Given the description of an element on the screen output the (x, y) to click on. 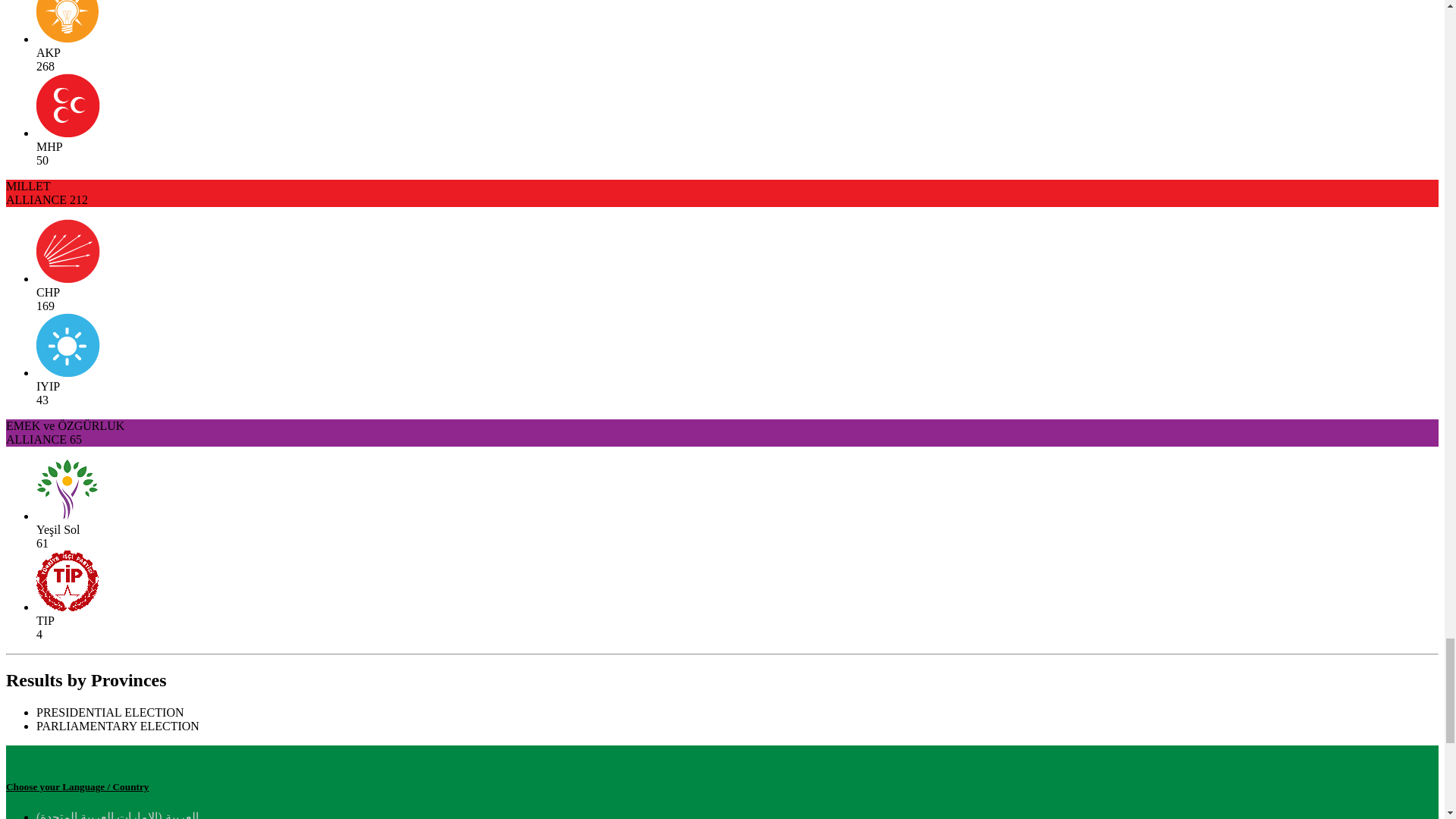
PRESIDENTIAL ELECTION (110, 712)
PARLIAMENTARY ELECTION (117, 725)
